Given the description of an element on the screen output the (x, y) to click on. 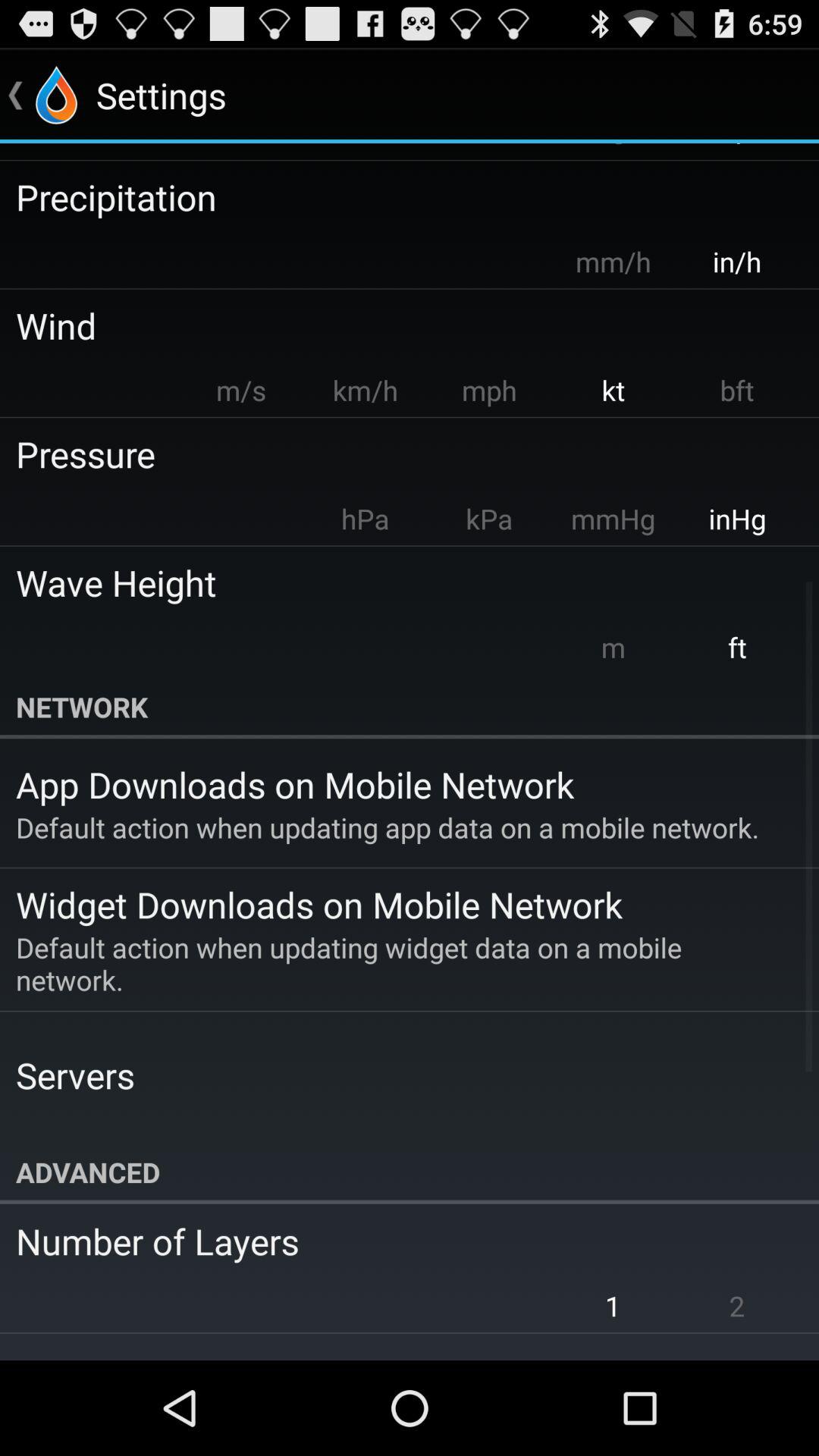
click app to the left of mmhg app (489, 518)
